Given the description of an element on the screen output the (x, y) to click on. 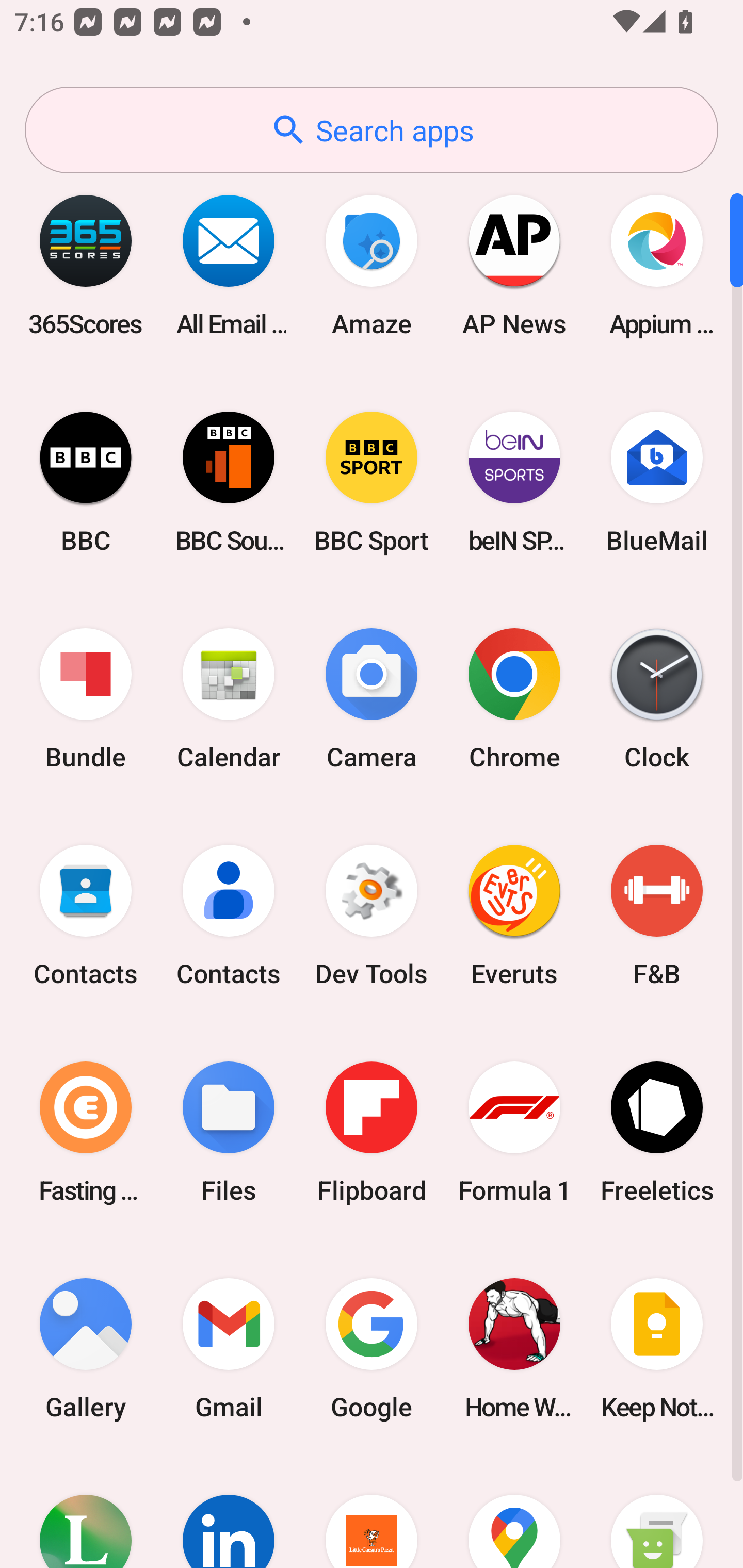
  Search apps (371, 130)
365Scores (85, 264)
All Email Connect (228, 264)
Amaze (371, 264)
AP News (514, 264)
Appium Settings (656, 264)
BBC (85, 482)
BBC Sounds (228, 482)
BBC Sport (371, 482)
beIN SPORTS (514, 482)
BlueMail (656, 482)
Bundle (85, 699)
Calendar (228, 699)
Camera (371, 699)
Chrome (514, 699)
Clock (656, 699)
Contacts (85, 915)
Contacts (228, 915)
Dev Tools (371, 915)
Everuts (514, 915)
F&B (656, 915)
Fasting Coach (85, 1131)
Files (228, 1131)
Flipboard (371, 1131)
Formula 1 (514, 1131)
Freeletics (656, 1131)
Gallery (85, 1348)
Gmail (228, 1348)
Google (371, 1348)
Home Workout (514, 1348)
Keep Notes (656, 1348)
Lifesum (85, 1512)
LinkedIn (228, 1512)
Little Caesars Pizza (371, 1512)
Maps (514, 1512)
Messaging (656, 1512)
